Given the description of an element on the screen output the (x, y) to click on. 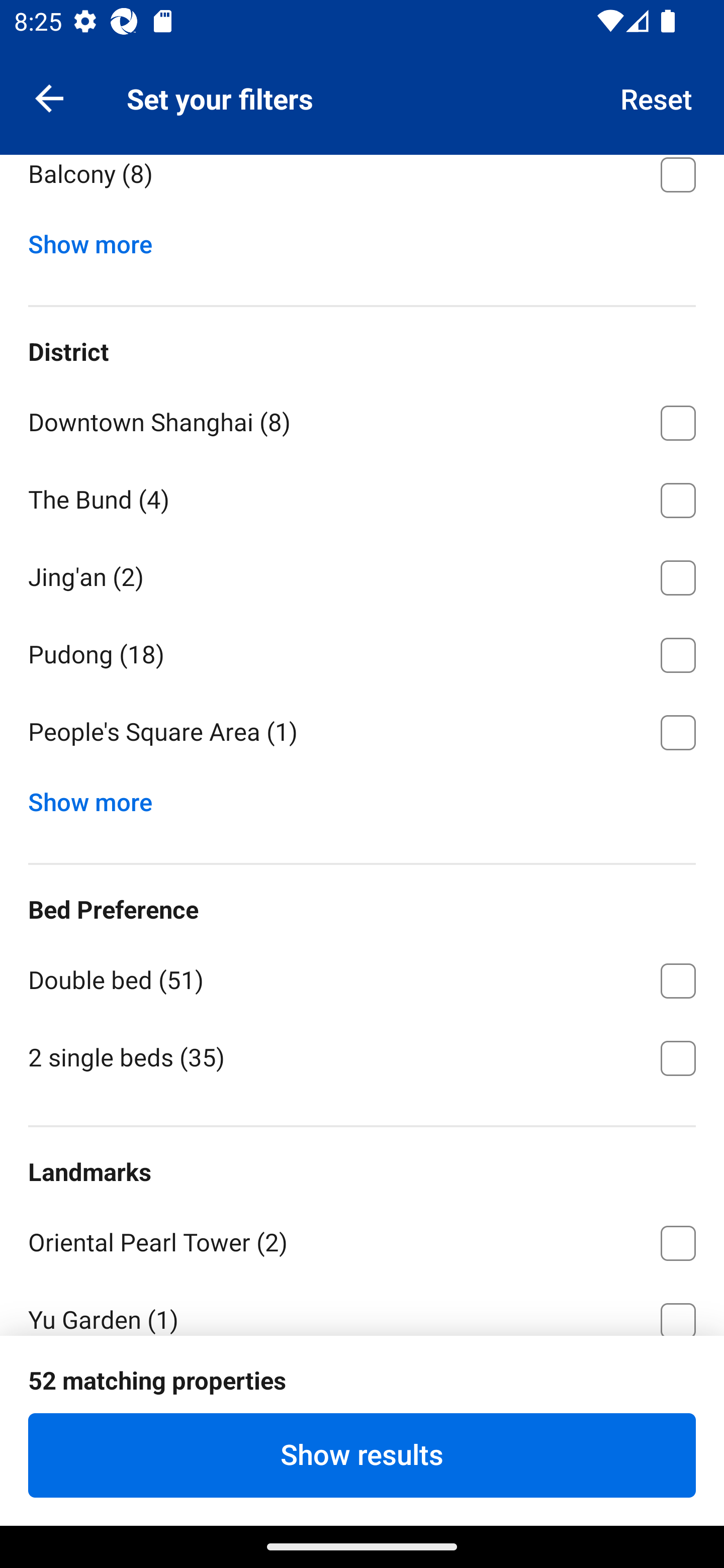
Navigate up (49, 97)
Private bathroom ⁦(44) (361, 93)
Reset (656, 97)
Balcony ⁦(8) (361, 185)
Show more (97, 239)
Downtown Shanghai ⁦(8) (361, 419)
The Bund ⁦(4) (361, 496)
Jing'an ⁦(2) (361, 574)
Pudong ⁦(18) (361, 651)
People's Square Area ⁦(1) (361, 731)
Show more (97, 797)
Double bed ⁦(51) (361, 977)
2 single beds ⁦(35) (361, 1056)
Oriental Pearl Tower ⁦(2) (361, 1239)
Yu Garden ⁦(1) (361, 1306)
Shanghai Museum ⁦(3) (361, 1396)
Show results (361, 1454)
